Given the description of an element on the screen output the (x, y) to click on. 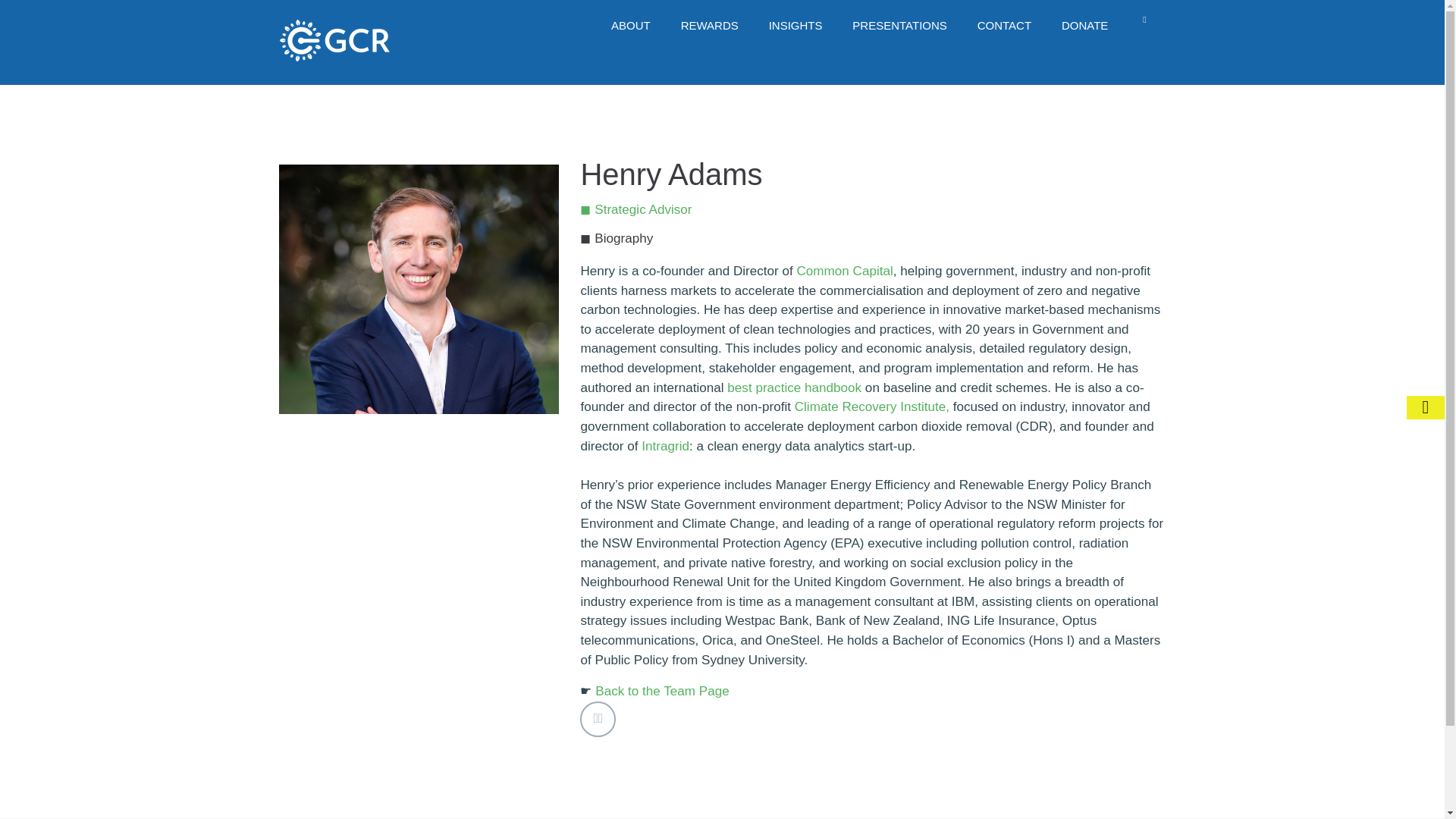
REWARDS (709, 26)
ABOUT (630, 26)
INSIGHTS (796, 26)
PRESENTATIONS (898, 26)
